Given the description of an element on the screen output the (x, y) to click on. 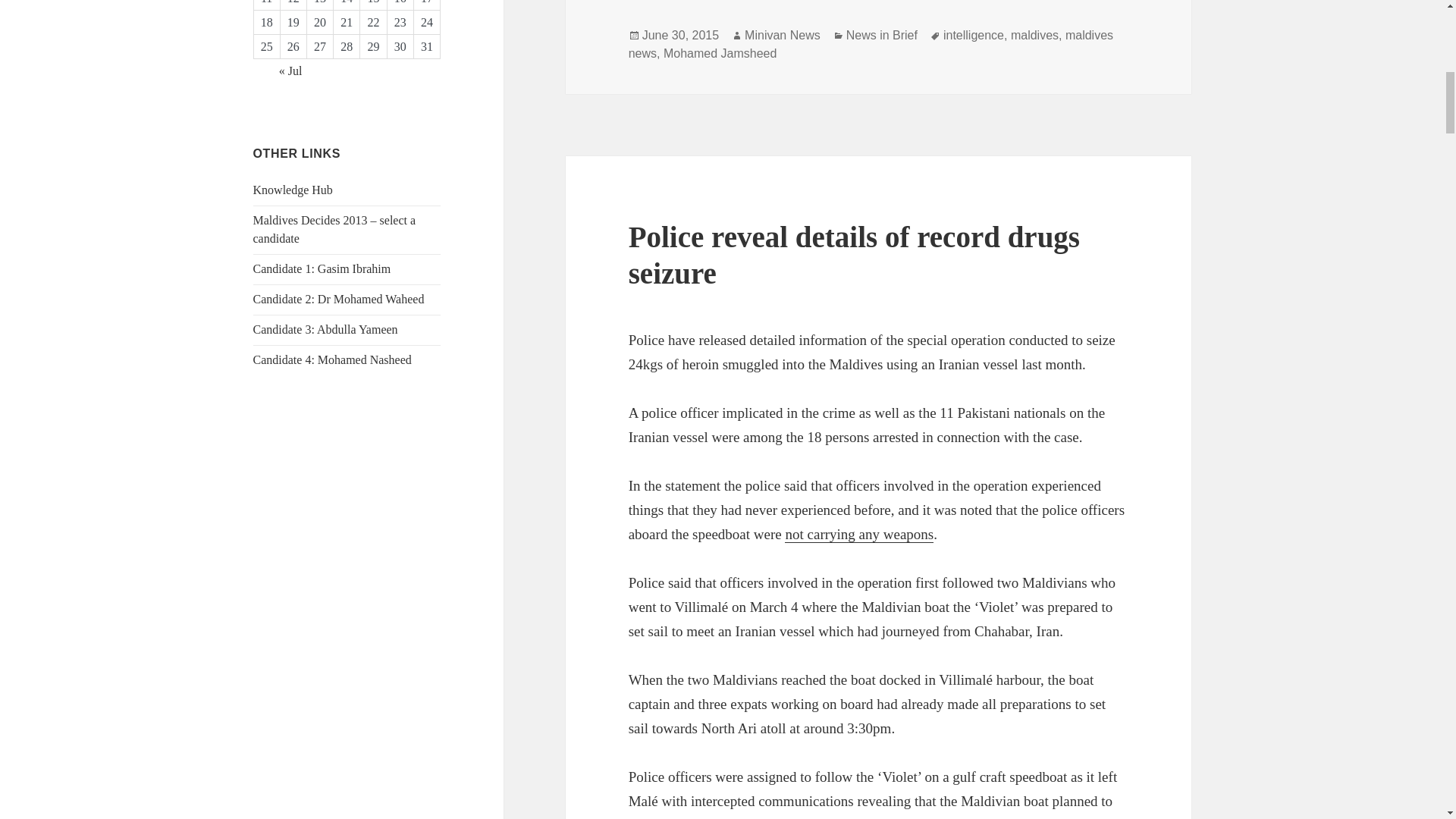
Knowledge Hub (293, 189)
Candidate 3: Abdulla Yameen (325, 328)
not carrying any weapons (858, 534)
Minivan News (782, 35)
Police reveal details of record drugs seizure (854, 254)
maldives news (870, 44)
intelligence (973, 35)
News in Brief (881, 35)
maldives (1034, 35)
June 30, 2015 (680, 35)
